Given the description of an element on the screen output the (x, y) to click on. 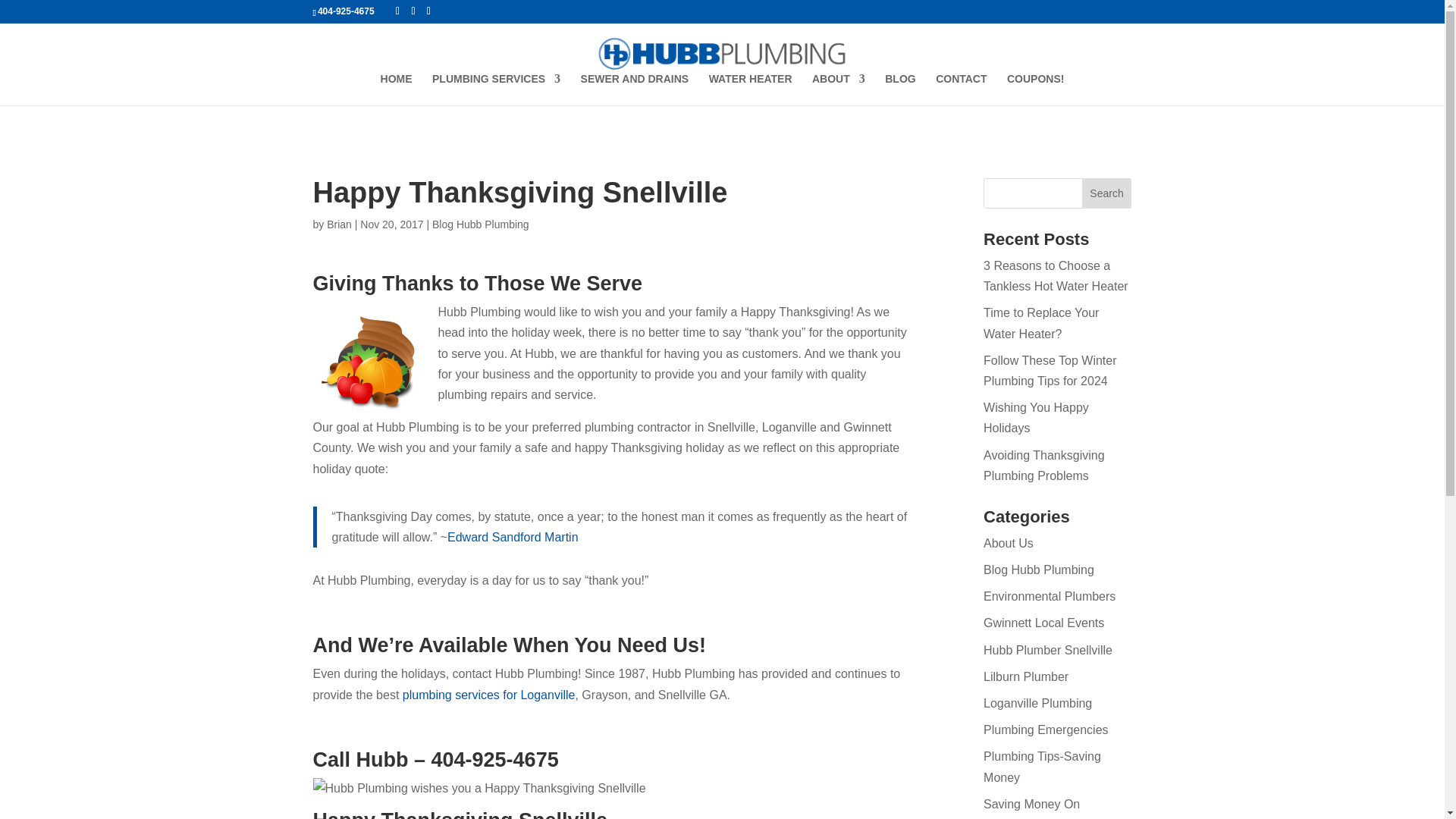
PLUMBING SERVICES (496, 89)
Time to Replace Your Water Heater? (1041, 322)
Hubb Plumber Snellville (1048, 649)
Environmental Plumbers (1049, 595)
Lilburn Plumber (1026, 676)
404-925-4675 (345, 10)
COUPONS! (1035, 89)
Blog Hubb Plumbing (1039, 569)
Wishing You Happy Holidays (1036, 417)
Loganville Plumbing (1038, 703)
